Given the description of an element on the screen output the (x, y) to click on. 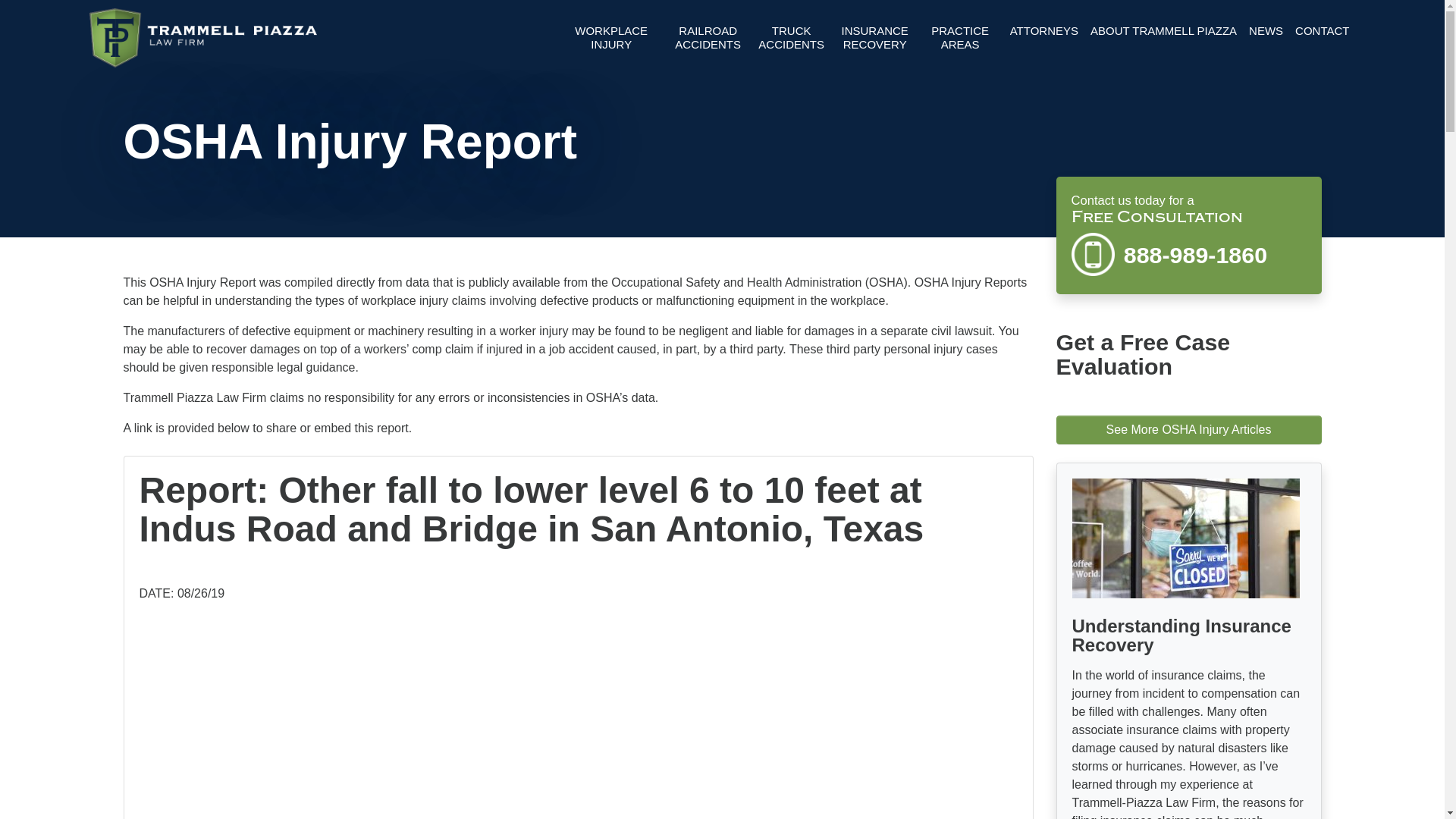
888-989-1860 (1188, 253)
RAILROAD ACCIDENTS (707, 38)
TRUCK ACCIDENTS (790, 38)
WORKPLACE INJURY (611, 38)
PRACTICE AREAS (960, 38)
INSURANCE RECOVERY (874, 38)
See More OSHA Injury Articles (1187, 429)
ATTORNEYS (1044, 31)
ABOUT TRAMMELL PIAZZA (1163, 31)
CONTACT (1321, 31)
